Given the description of an element on the screen output the (x, y) to click on. 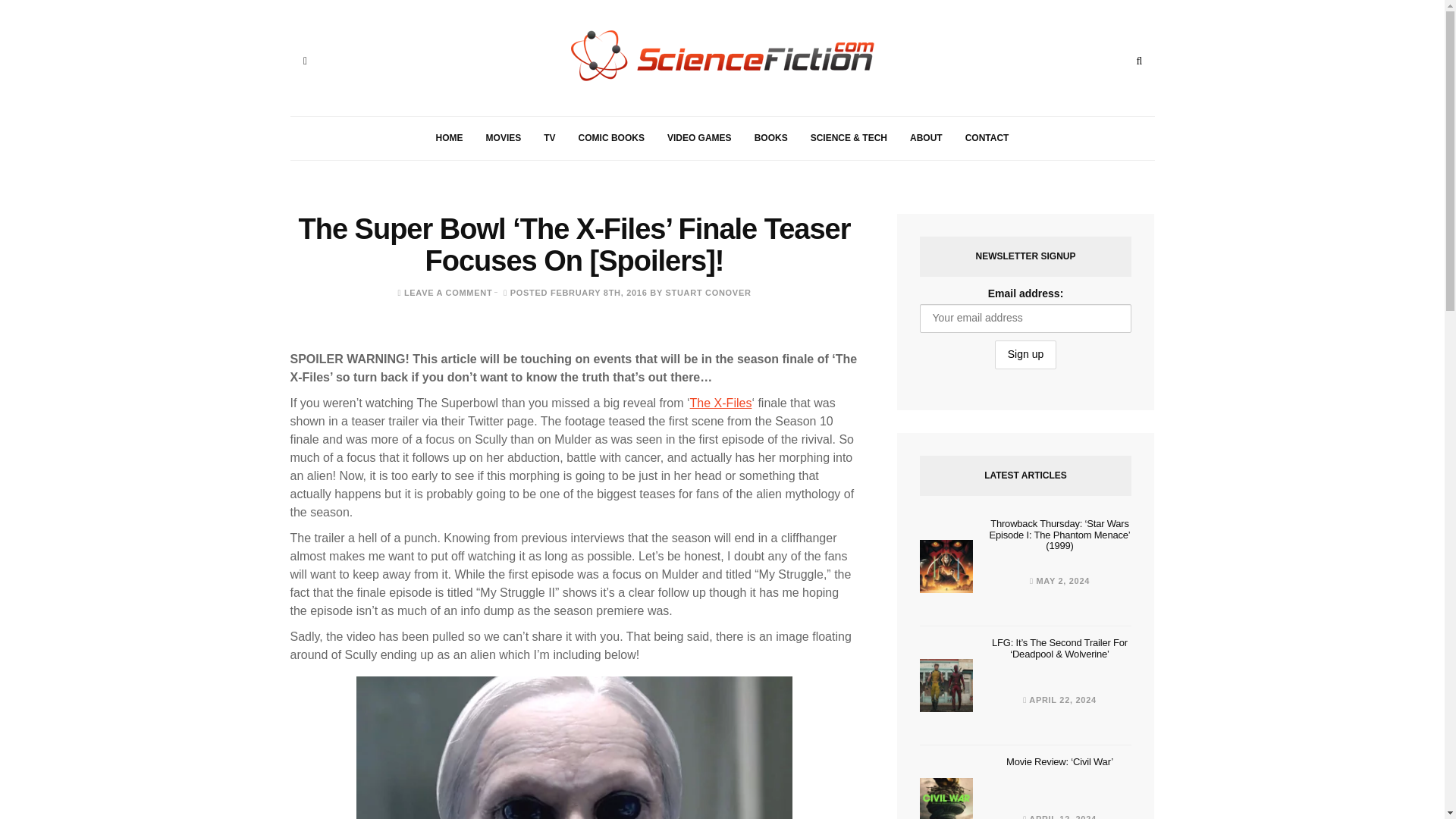
VIDEO GAMES (699, 138)
Posts by Stuart Conover (708, 292)
Search (1139, 60)
Sign up (1025, 354)
COMIC BOOKS (611, 138)
CONTACT (986, 138)
MOVIES (503, 138)
The X-Files (721, 402)
STUART CONOVER (708, 292)
HOME (449, 138)
BOOKS (770, 138)
ABOUT (925, 138)
LEAVE A COMMENT (448, 292)
